Given the description of an element on the screen output the (x, y) to click on. 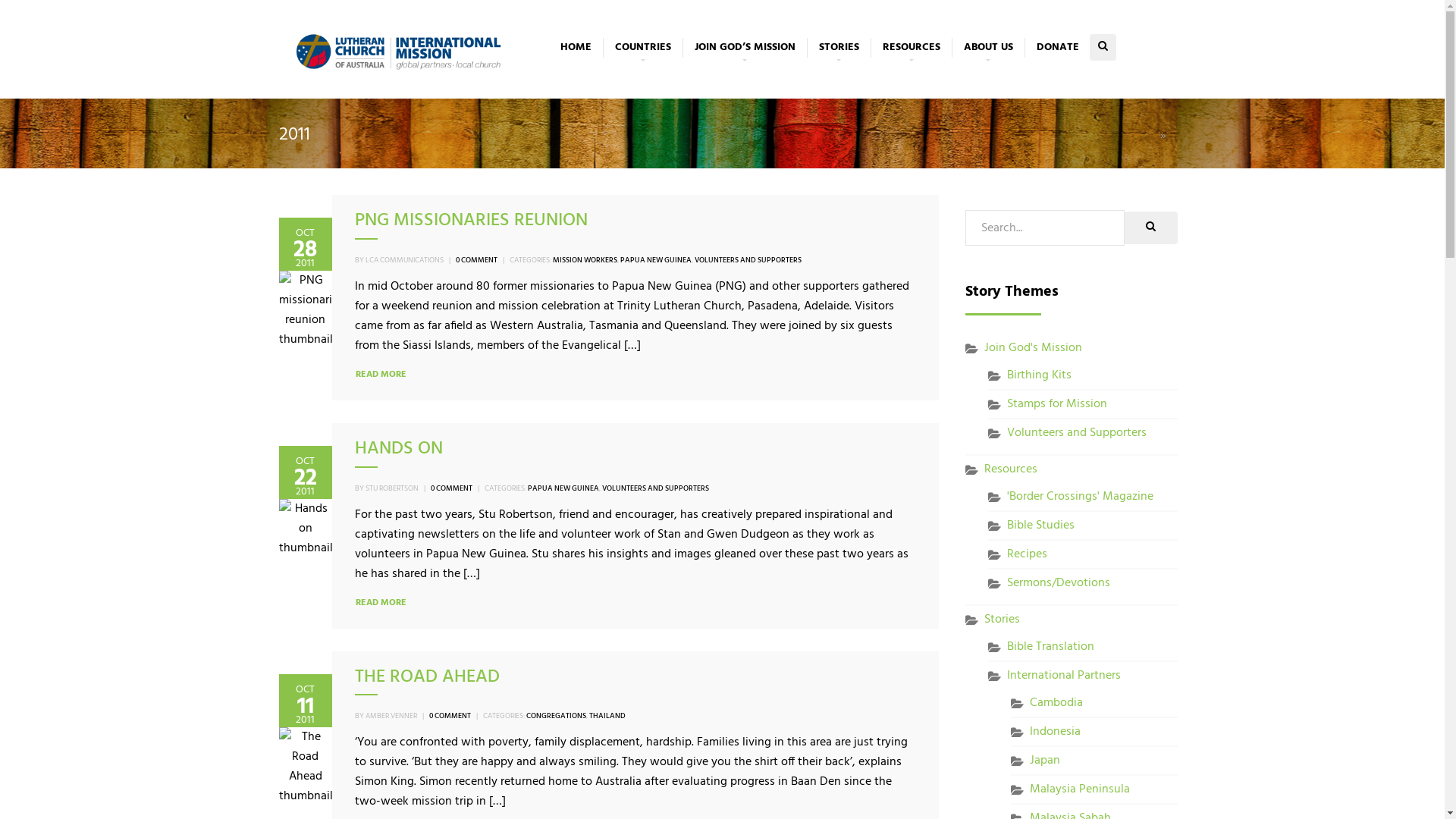
Japan Element type: text (1044, 760)
Bible Studies Element type: text (1040, 525)
RESOURCES Element type: text (910, 47)
PAPUA NEW GUINEA Element type: text (563, 488)
Cambodia Element type: text (1055, 702)
Birthing Kits Element type: text (1039, 375)
MISSION WORKERS Element type: text (584, 260)
PAPUA NEW GUINEA Element type: text (655, 260)
ABOUT US Element type: text (986, 47)
VOLUNTEERS AND SUPPORTERS Element type: text (747, 260)
HOME Element type: text (575, 47)
READ MORE Element type: text (380, 375)
Stories Element type: text (1001, 619)
VOLUNTEERS AND SUPPORTERS Element type: text (655, 488)
Bible Translation Element type: text (1050, 646)
Join God's Mission Element type: text (1033, 347)
International Partners Element type: text (1063, 675)
Malaysia Peninsula Element type: text (1079, 789)
0 COMMENT Element type: text (449, 715)
Resources Element type: text (1010, 469)
HANDS ON Element type: text (398, 448)
Sermons/Devotions Element type: text (1058, 583)
DONATE Element type: text (1056, 47)
0 COMMENT Element type: text (475, 260)
READ MORE Element type: text (380, 603)
Volunteers and Supporters Element type: text (1076, 432)
0 COMMENT Element type: text (451, 488)
THE ROAD AHEAD Element type: text (426, 676)
Stamps for Mission Element type: text (1057, 404)
COUNTRIES Element type: text (641, 47)
Recipes Element type: text (1027, 554)
'Border Crossings' Magazine Element type: text (1080, 496)
CONGREGATIONS Element type: text (556, 715)
STORIES Element type: text (838, 47)
PNG MISSIONARIES REUNION Element type: text (470, 220)
Indonesia Element type: text (1054, 731)
THAILAND Element type: text (606, 715)
